Given the description of an element on the screen output the (x, y) to click on. 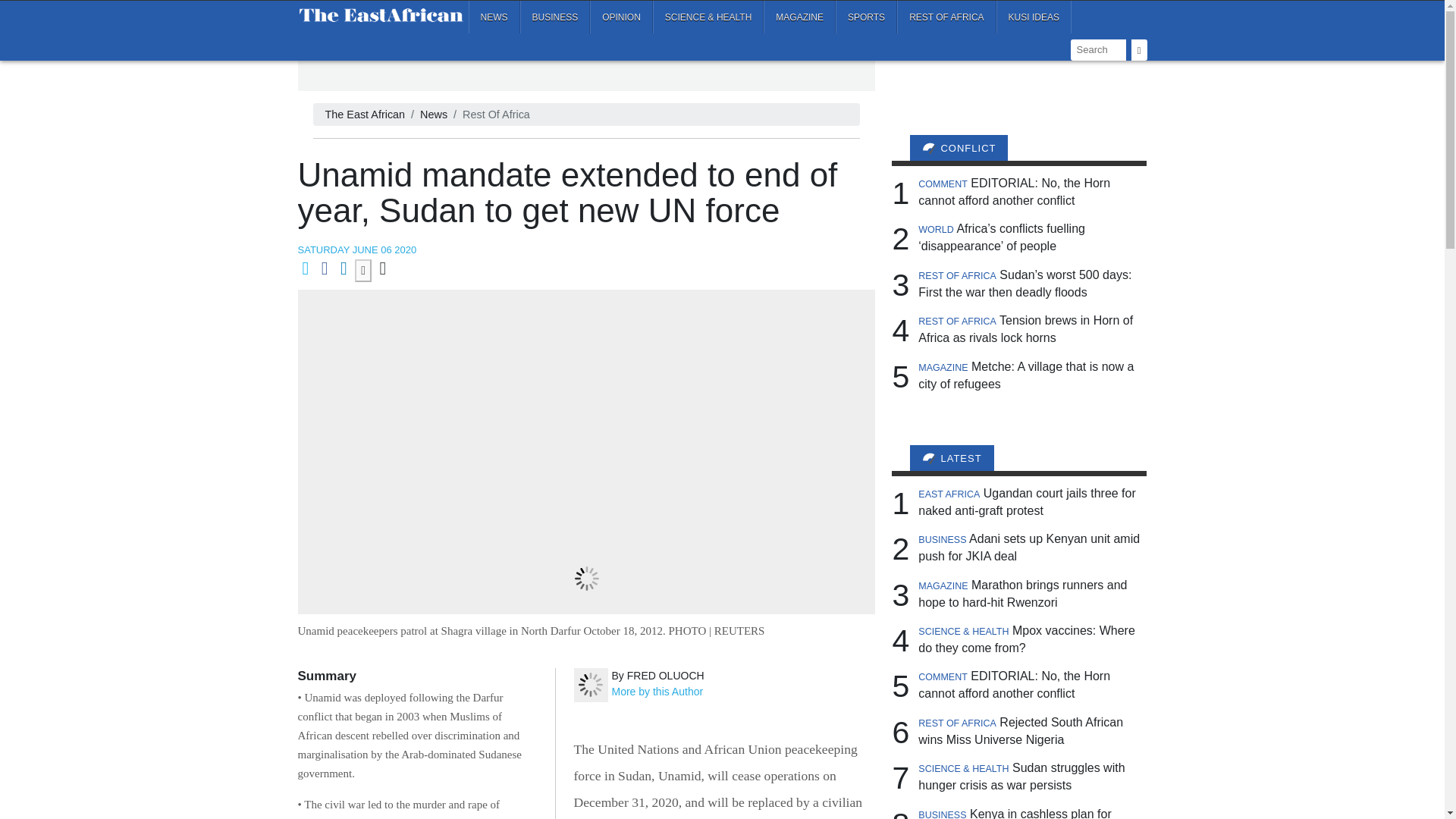
MAGAZINE (798, 16)
NEWS (493, 16)
SPORTS (865, 16)
BUSINESS (555, 16)
OPINION (620, 16)
